Given the description of an element on the screen output the (x, y) to click on. 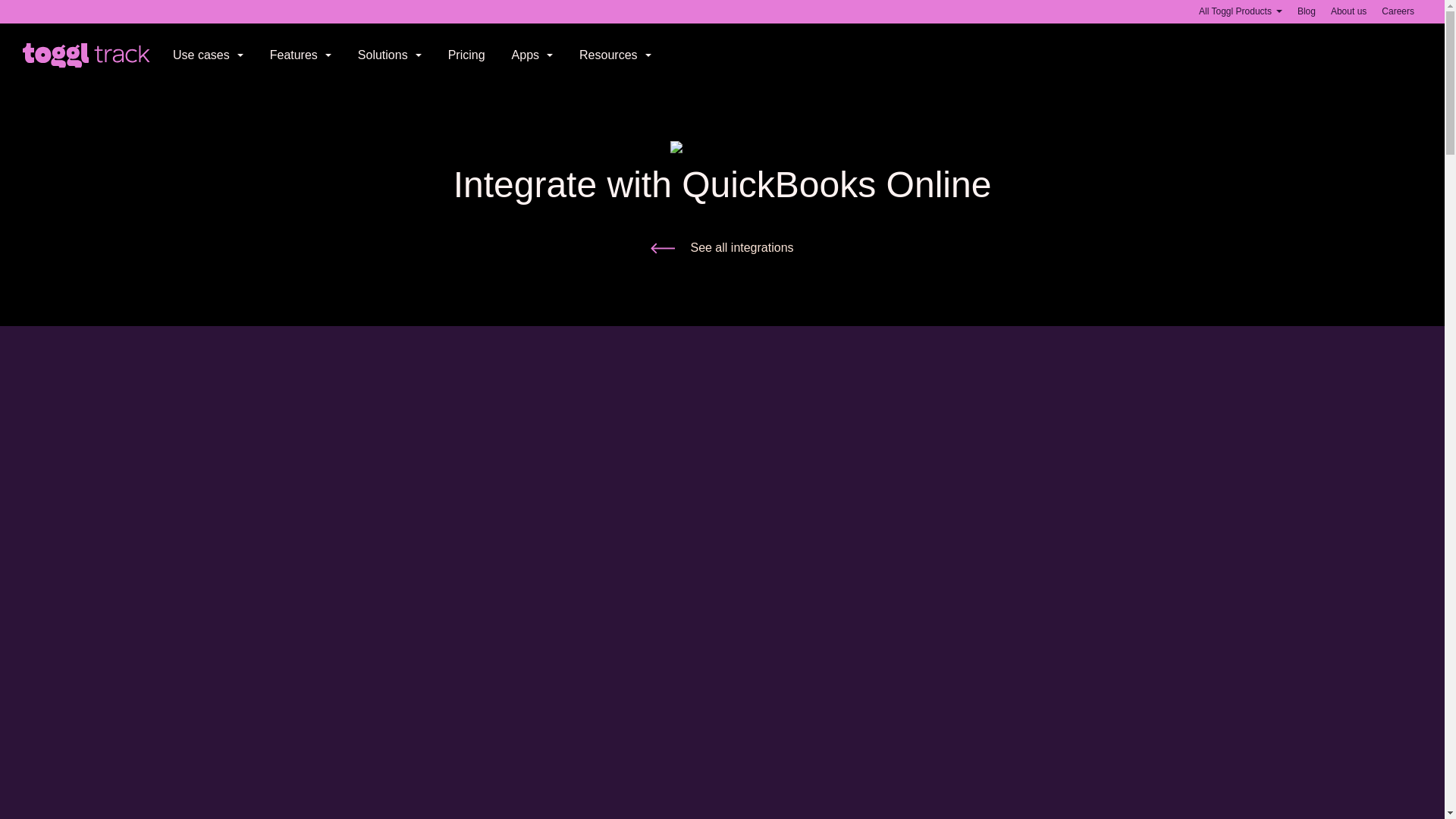
About us (1348, 10)
Use cases (208, 54)
See all integrations (721, 247)
Blog (1306, 10)
All Toggl Products (1240, 10)
Pricing (466, 54)
Apps (532, 54)
Solutions (390, 54)
Features (300, 54)
Careers (1397, 10)
